Given the description of an element on the screen output the (x, y) to click on. 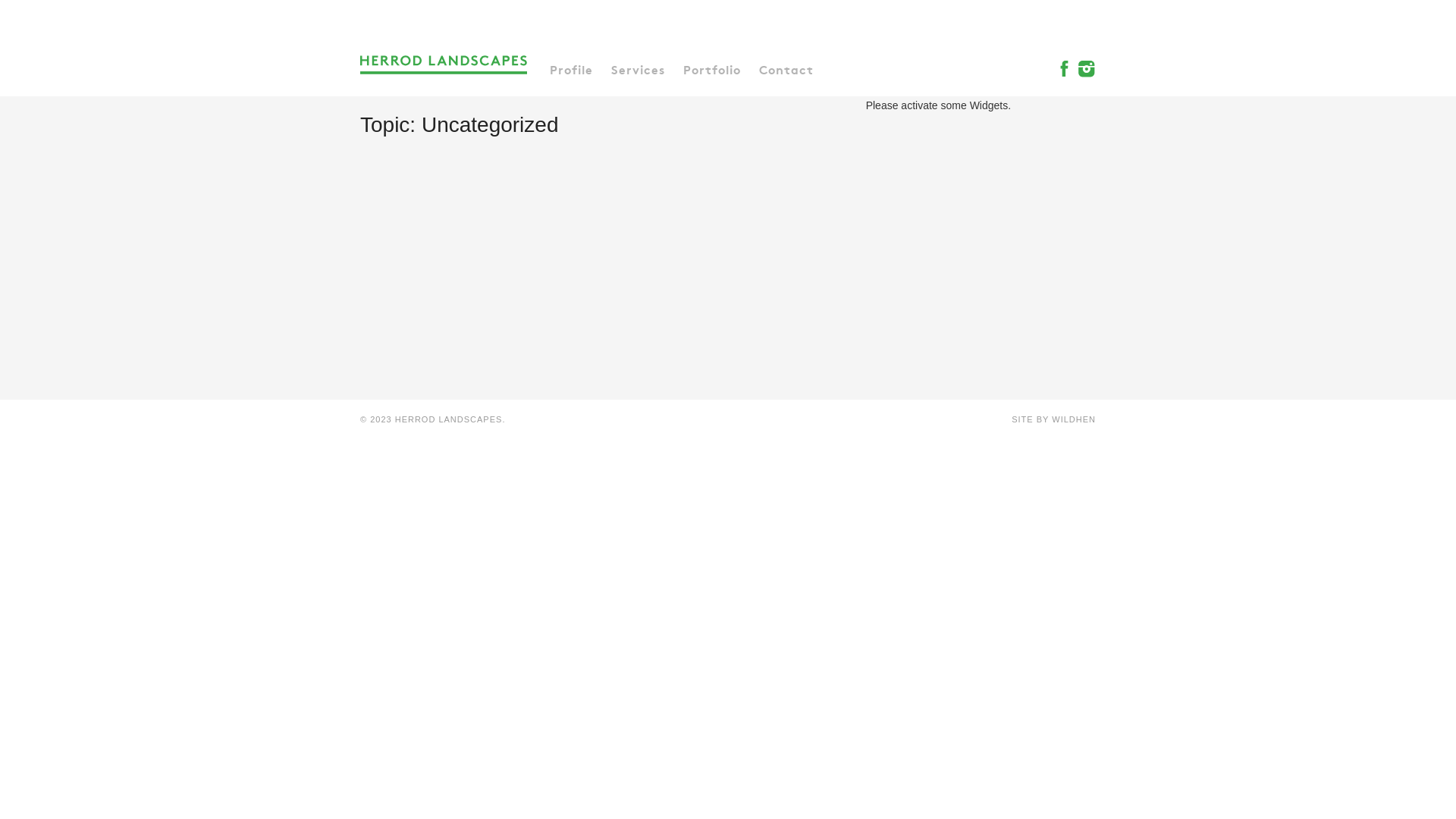
WILDHEN Element type: text (1073, 418)
Profile Element type: text (571, 68)
Contact Element type: text (786, 68)
Portfolio Element type: text (711, 68)
Services Element type: text (638, 68)
